Given the description of an element on the screen output the (x, y) to click on. 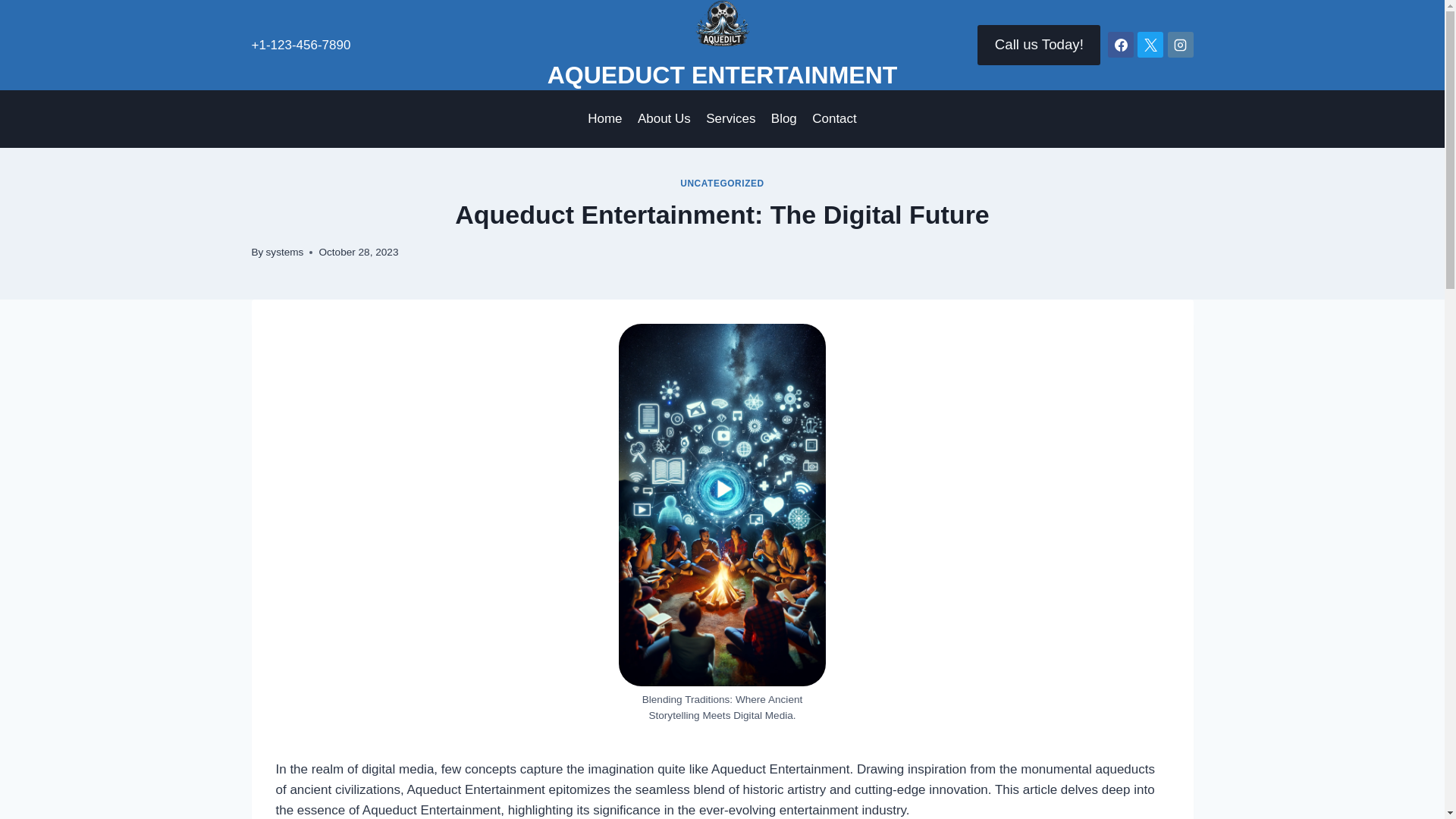
systems (285, 251)
Call us Today! (1038, 44)
UNCATEGORIZED (721, 183)
AQUEDUCT ENTERTAINMENT (722, 45)
Services (730, 118)
Blog (783, 118)
About Us (664, 118)
Contact (834, 118)
Home (604, 118)
